Given the description of an element on the screen output the (x, y) to click on. 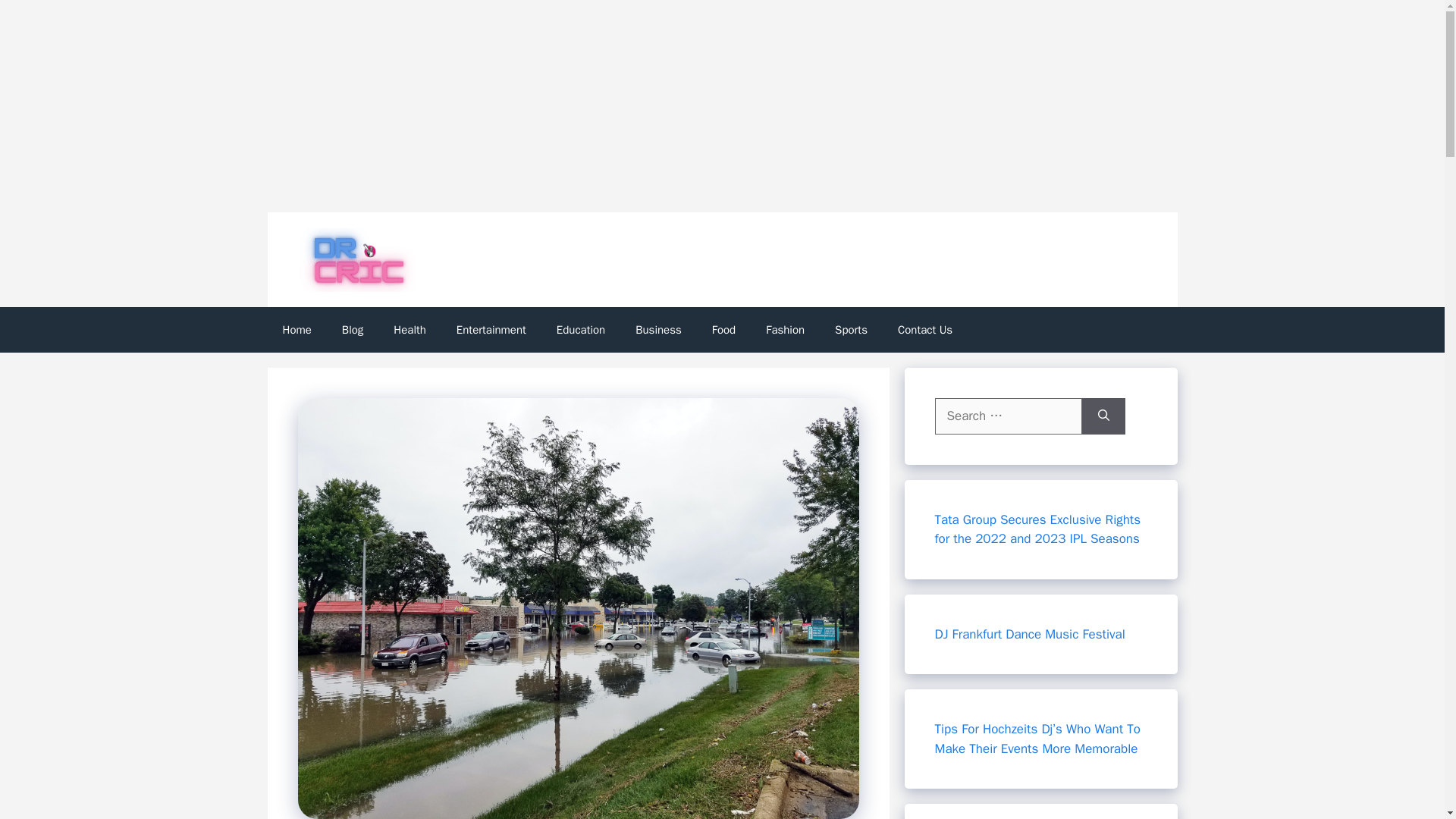
Health (409, 329)
DJ Frankfurt Dance Music Festival (1029, 634)
Sports (850, 329)
Food (724, 329)
Education (580, 329)
Blog (352, 329)
Entertainment (491, 329)
Business (658, 329)
